Given the description of an element on the screen output the (x, y) to click on. 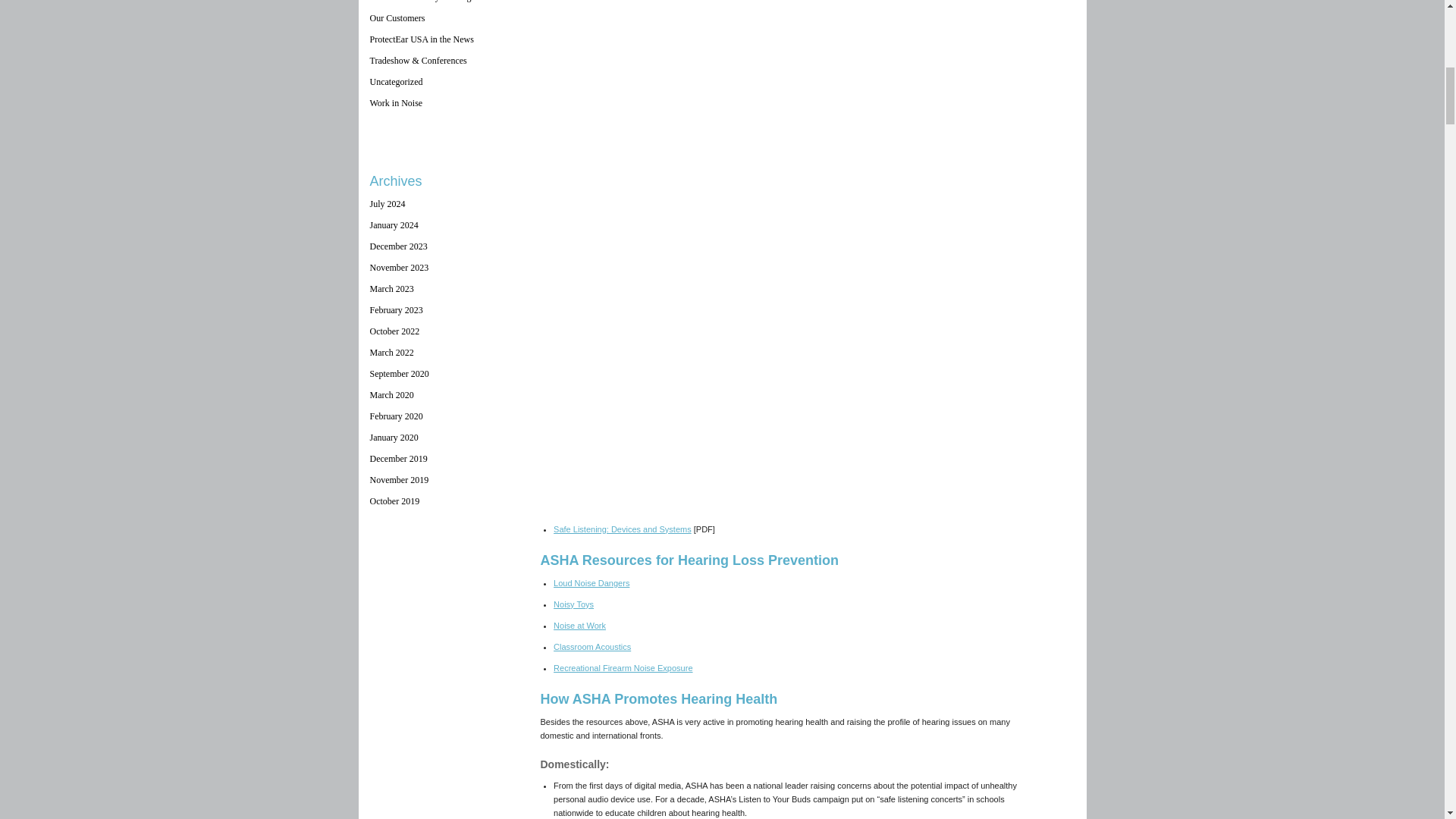
Noisy Toys (573, 604)
Loud Noise Dangers (590, 583)
Recreational Firearm Noise Exposure (623, 667)
Noise at Work (579, 624)
Classroom Acoustics (591, 646)
